Given the description of an element on the screen output the (x, y) to click on. 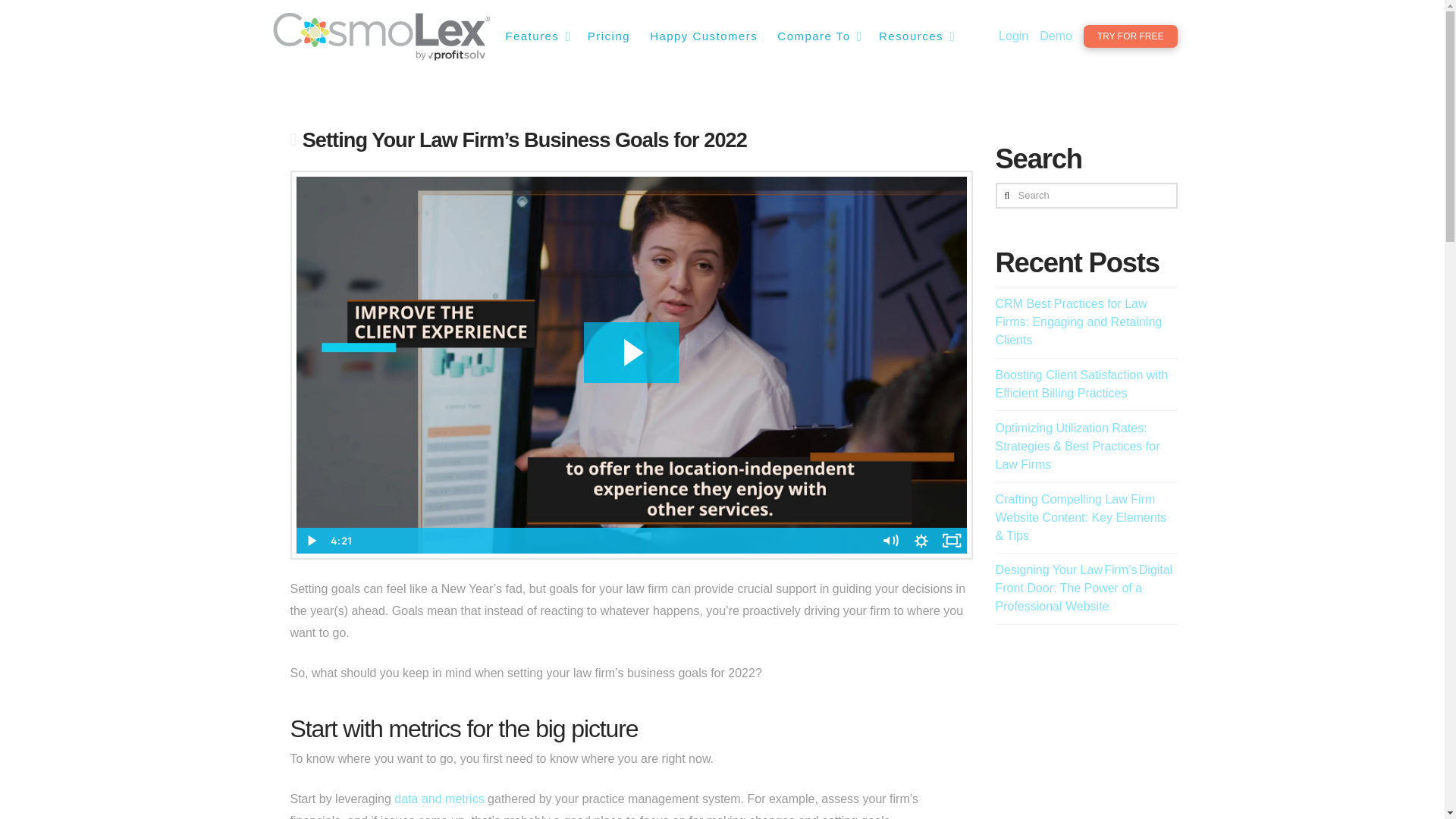
TRY FOR FREE (1130, 36)
Login (1012, 35)
Compare To (818, 36)
Features (535, 36)
Resources (913, 36)
Demo (1055, 35)
Show settings menu (920, 540)
Happy Customers (703, 36)
